Given the description of an element on the screen output the (x, y) to click on. 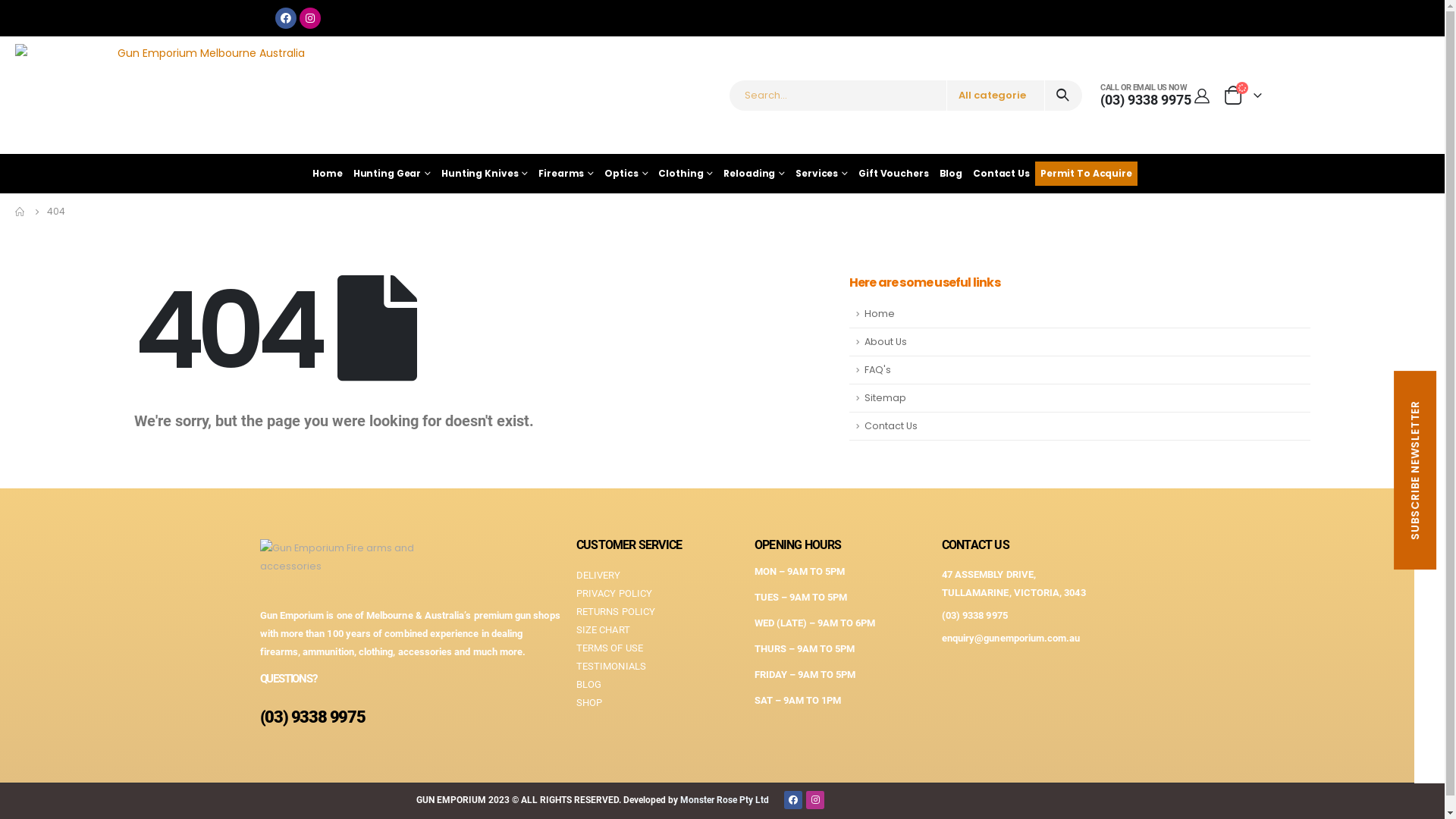
Contact Us Element type: text (1079, 426)
(03) 9338 9975 Element type: text (311, 716)
Go to Home Page Element type: hover (20, 211)
SIZE CHART Element type: text (657, 630)
CALL OR EMAIL US NOW
(03) 9338 9975 Element type: text (1145, 94)
My Account Element type: hover (1201, 94)
Hunting Knives Element type: text (484, 173)
About Us Element type: text (1079, 342)
PRIVACY POLICY Element type: text (657, 593)
(03) 9338 9975 Element type: text (974, 615)
Optics Element type: text (625, 173)
Clothing Element type: text (685, 173)
Hunting Gear Element type: text (392, 173)
Reloading Element type: text (754, 173)
Search Element type: hover (1062, 95)
Permit To Acquire Element type: text (1086, 173)
Home Element type: text (1079, 314)
TERMS OF USE Element type: text (657, 648)
Contact Us Element type: text (1001, 173)
Sitemap Element type: text (1079, 398)
Firearms Element type: text (566, 173)
SHOP Element type: text (657, 702)
Home Element type: text (327, 173)
BLOG Element type: text (657, 684)
Gift Vouchers Element type: text (893, 173)
Monster Rose Pty Ltd Element type: text (724, 799)
DELIVERY Element type: text (657, 575)
Services Element type: text (821, 173)
Blog Element type: text (951, 173)
RETURNS POLICY Element type: text (657, 611)
TESTIMONIALS Element type: text (657, 666)
enquiry@gunemporium.com.au Element type: text (1010, 637)
FAQ's Element type: text (1079, 370)
